Given the description of an element on the screen output the (x, y) to click on. 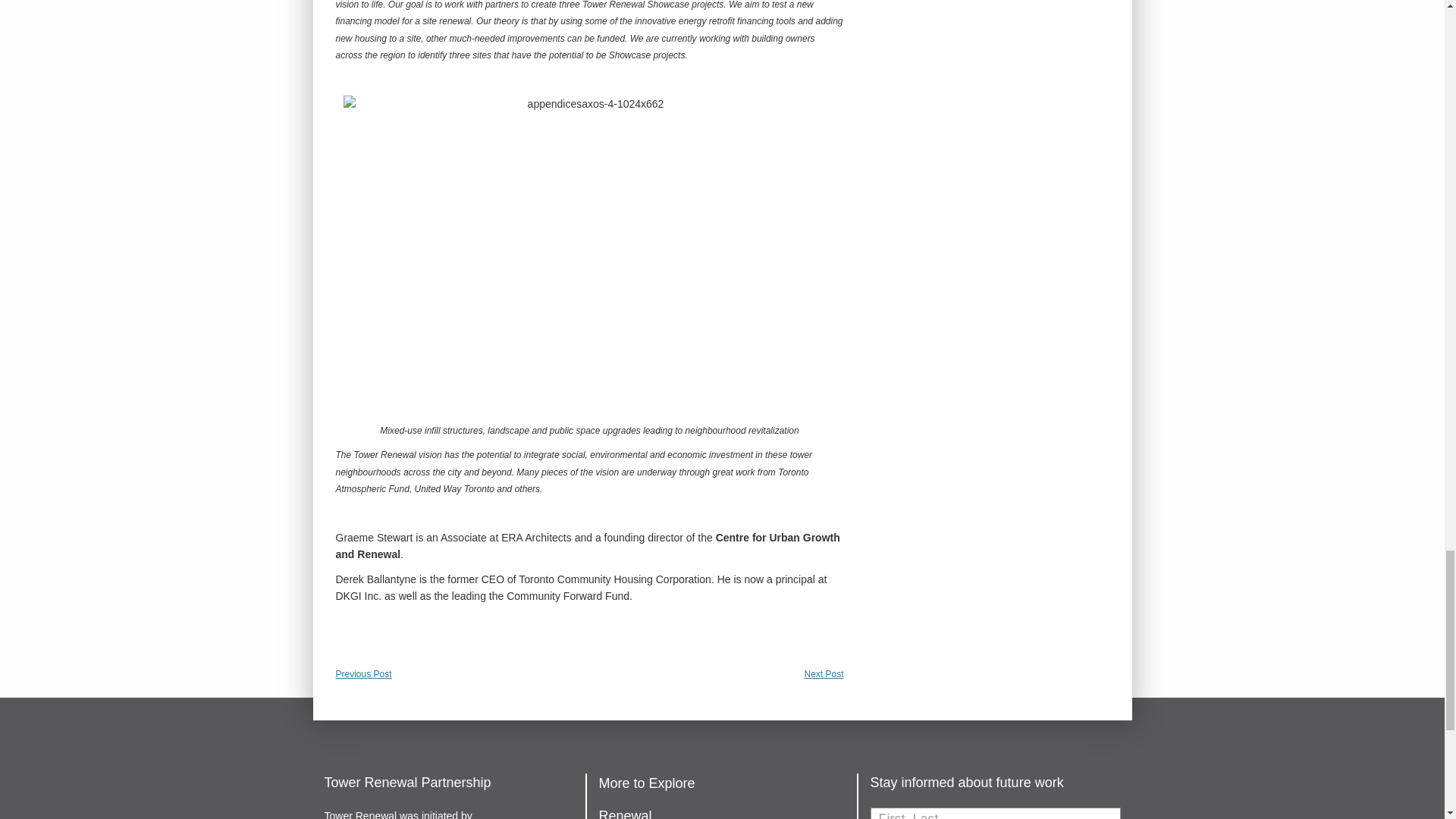
Next Post (823, 674)
Centre for Urban Growth and Renewal (587, 545)
Tower Renewal vision (397, 454)
Previous Post (362, 674)
